Given the description of an element on the screen output the (x, y) to click on. 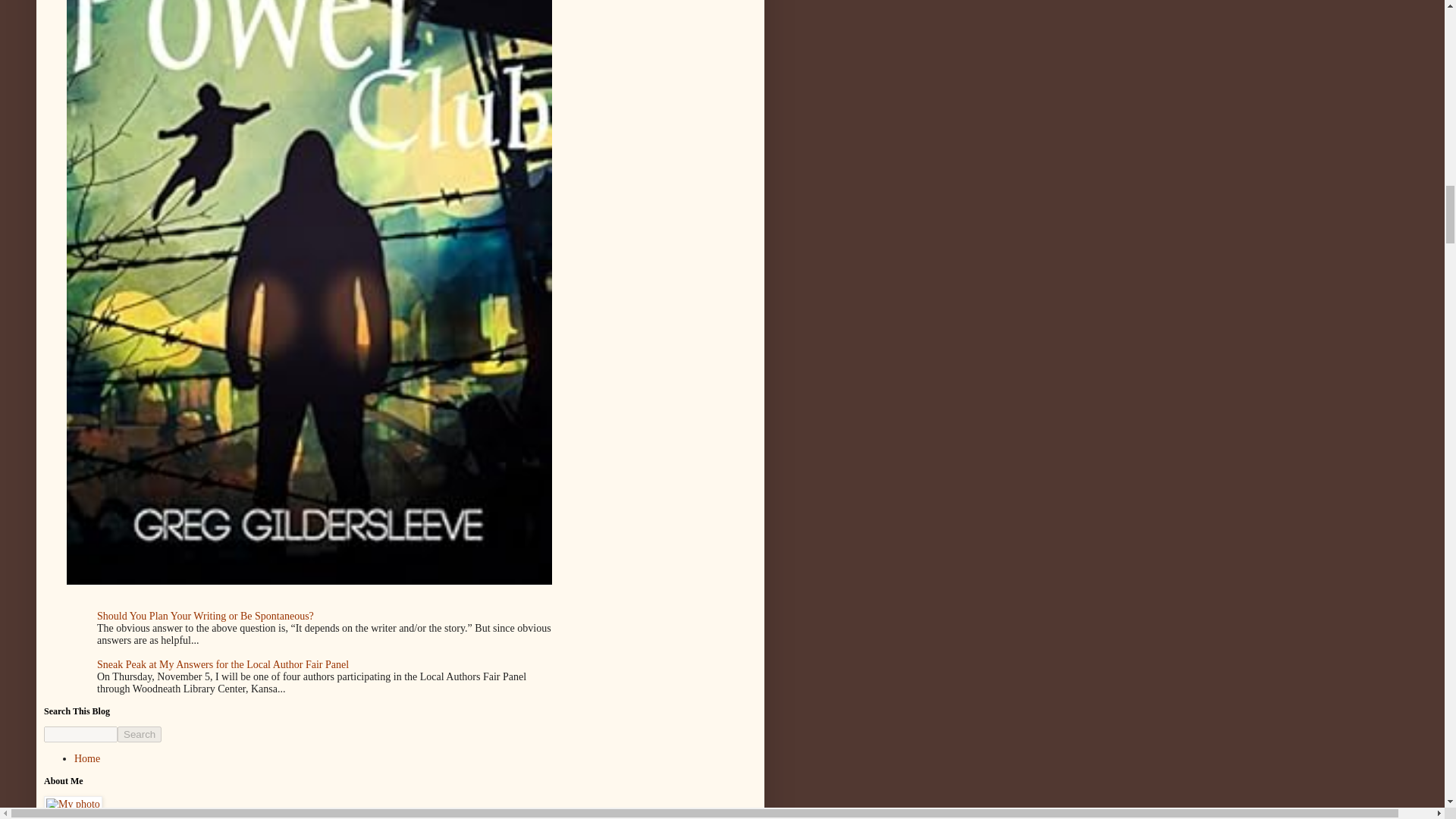
Search (139, 734)
Search (139, 734)
